Given the description of an element on the screen output the (x, y) to click on. 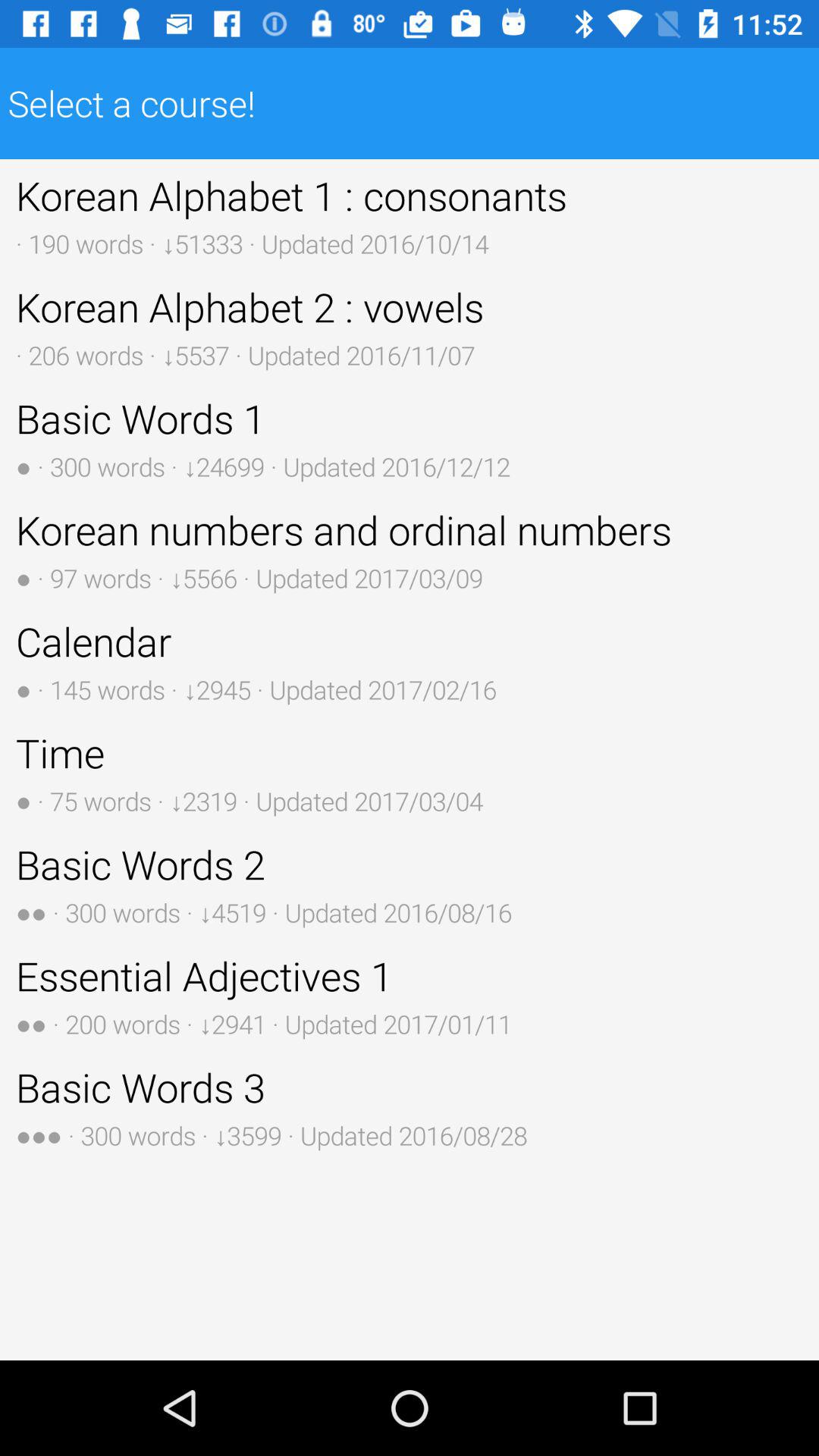
swipe until korean numbers and button (409, 549)
